Given the description of an element on the screen output the (x, y) to click on. 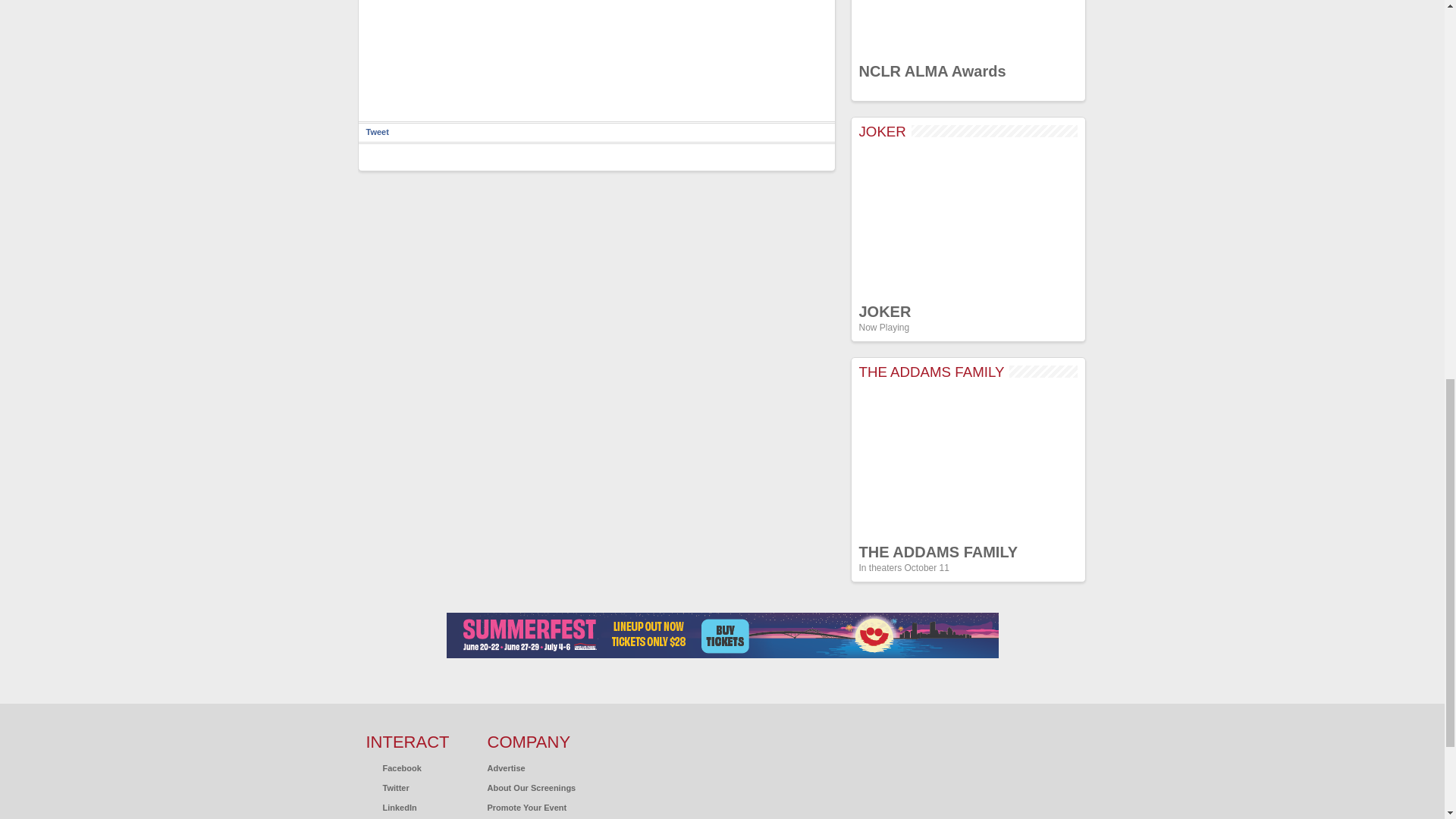
Tweet (376, 131)
YouTube video player (968, 221)
YouTube video player (968, 461)
YouTube video player (968, 27)
Facebook (392, 767)
Twitter (387, 787)
LinkedIn (390, 807)
LatinoScoop on Facebook (392, 767)
